Given the description of an element on the screen output the (x, y) to click on. 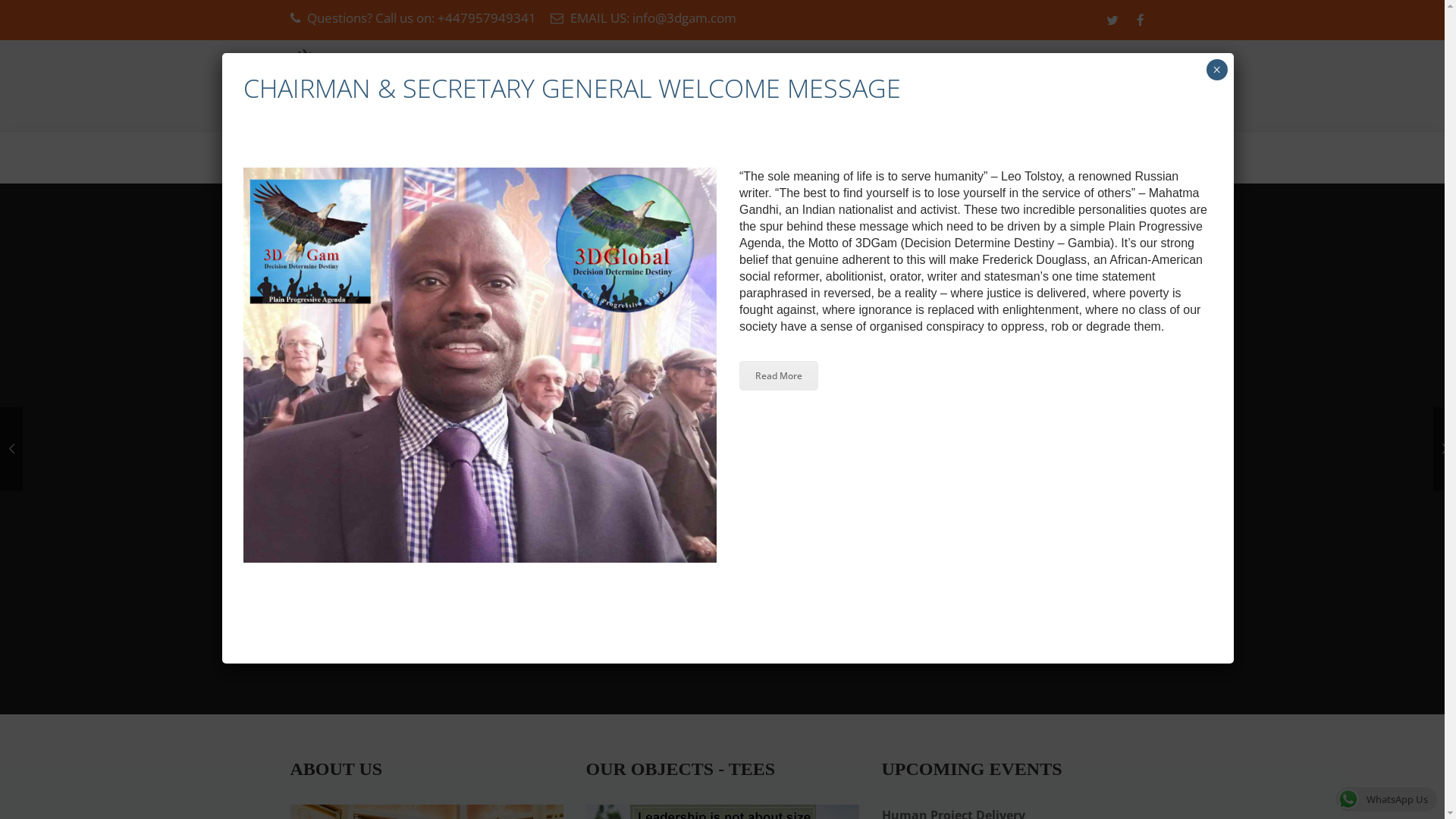
Our Blog Element type: text (684, 156)
Read More Element type: text (778, 375)
Our Gallery Element type: text (586, 156)
0 Element type: text (1099, 157)
Home Element type: text (324, 156)
WhatsApp Us Element type: text (1386, 798)
Contact Us Element type: text (778, 156)
Causes Element type: text (495, 156)
Donate Now Element type: text (1102, 86)
